Given the description of an element on the screen output the (x, y) to click on. 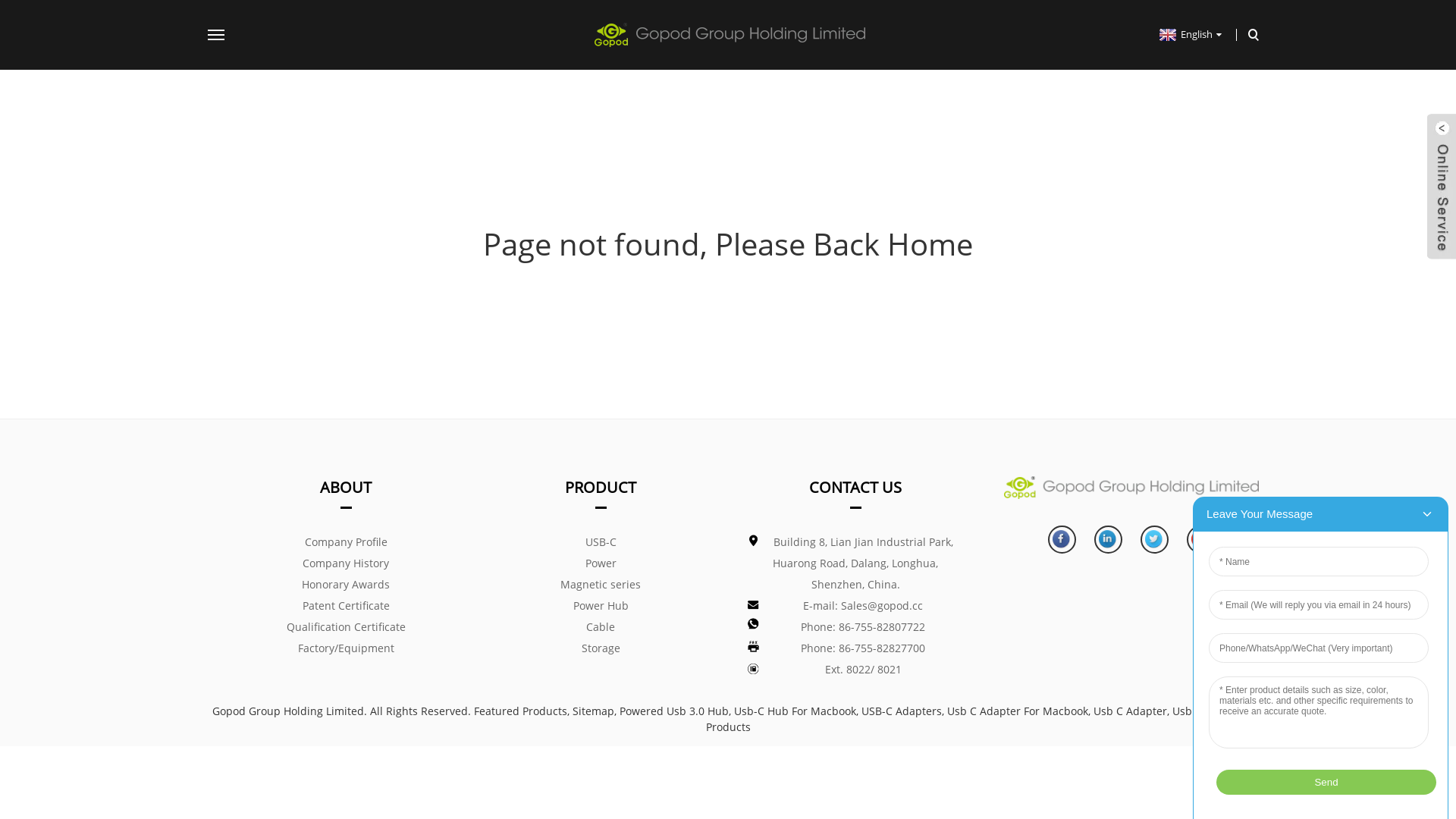
Company Profile Element type: text (345, 541)
Company History Element type: text (345, 563)
USB-C Element type: text (600, 541)
Usb C Adapter For Macbook Element type: text (1016, 710)
Featured Products Element type: text (519, 710)
Ext. 8022/ 8021 Element type: text (854, 669)
E-mail: Sales@gopod.cc Element type: text (854, 605)
All Products Element type: text (974, 718)
USB-C Adapters Element type: text (901, 710)
English Element type: text (1188, 33)
Honorary Awards Element type: text (345, 584)
Usb C Adapter Element type: text (1130, 710)
Powered Usb 3.0 Hub Element type: text (673, 710)
Factory/Equipment Element type: text (345, 647)
Page not found, Please Back Home Element type: text (727, 243)
Magnetic series Element type: text (600, 584)
Sitemap Element type: text (592, 710)
Power Element type: text (600, 563)
Phone: 86-755-82827700 Element type: text (854, 647)
Cable Element type: text (600, 626)
Usb C Hub Element type: text (1199, 710)
Power Hub Element type: text (600, 605)
Patent Certificate Element type: text (345, 605)
Phone: 86-755-82807722 Element type: text (854, 626)
Qualification Certificate Element type: text (345, 626)
Storage Element type: text (600, 647)
Usb-C Hub For Macbook Element type: text (795, 710)
